Given the description of an element on the screen output the (x, y) to click on. 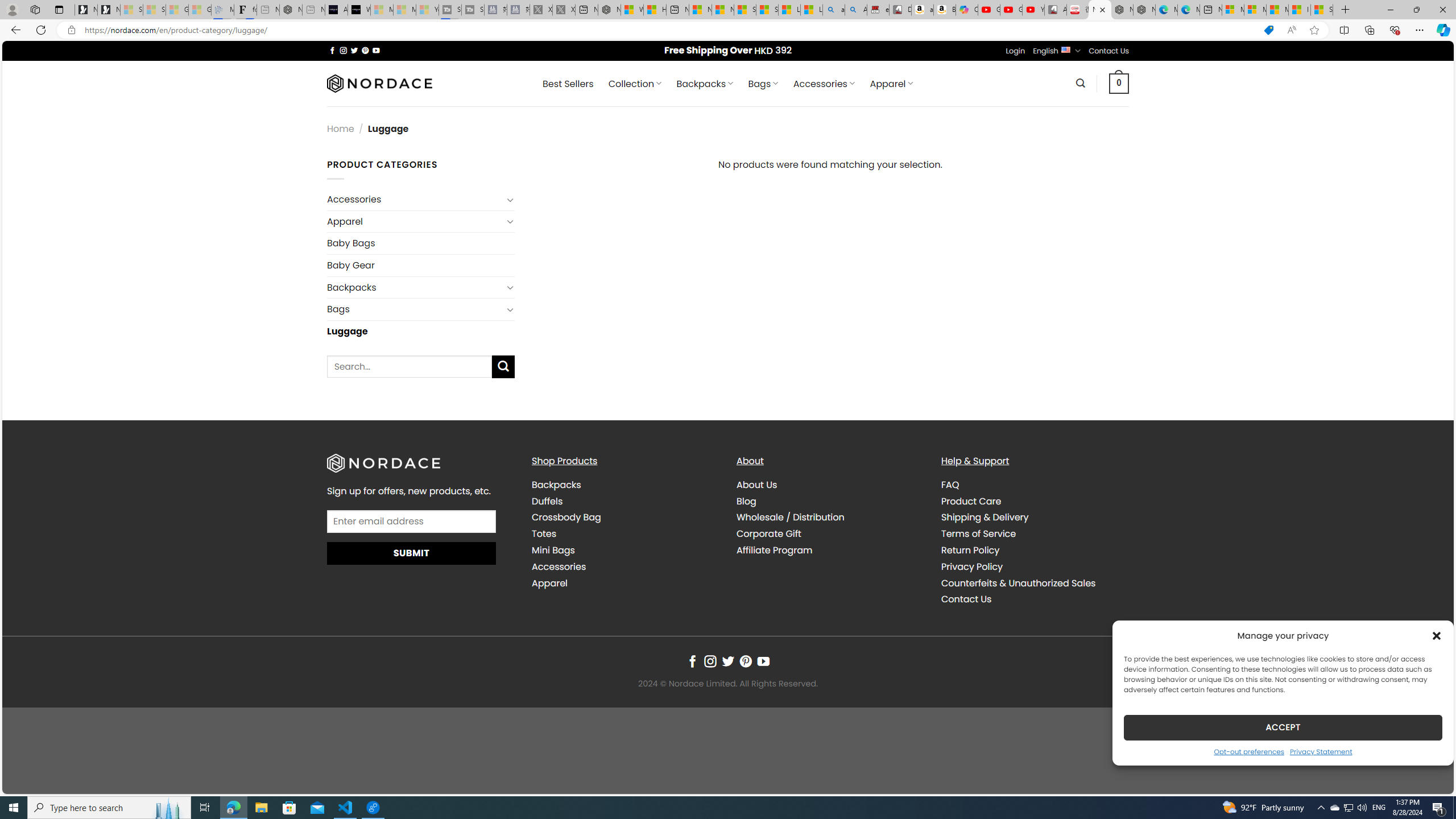
ACCEPT (1283, 727)
Counterfeits & Unauthorized Sales (1034, 583)
Copilot (966, 9)
Baby Gear (421, 264)
Shipping & Delivery (984, 517)
Blog (830, 501)
Mini Bags (553, 550)
